Given the description of an element on the screen output the (x, y) to click on. 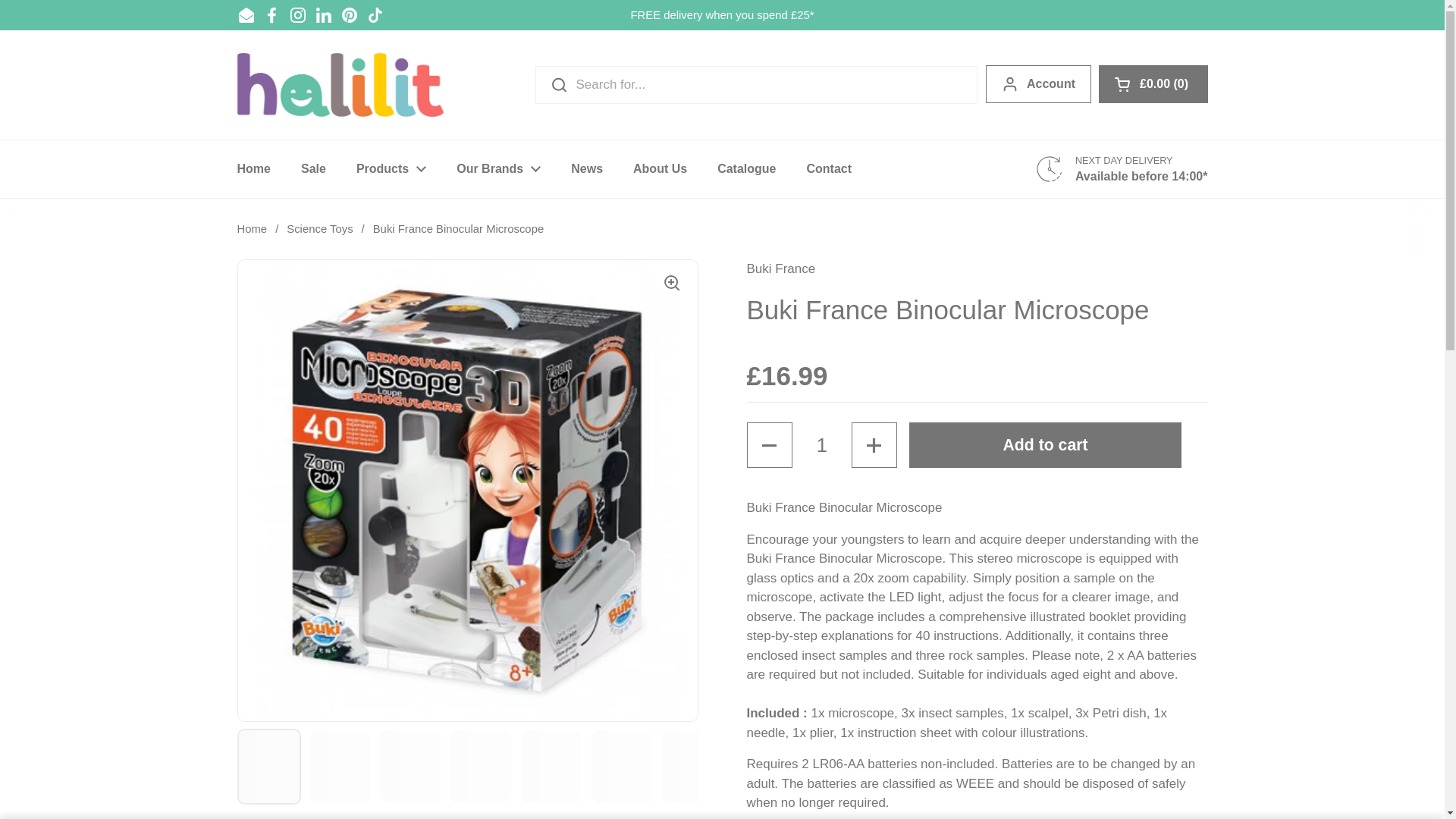
Products (390, 168)
LinkedIn (322, 14)
1 (821, 444)
Open cart (1153, 84)
Pinterest (348, 14)
Facebook (271, 14)
Email (244, 14)
Sale (312, 168)
Sale (312, 168)
Halilit (338, 85)
Home (253, 168)
Our Brands (498, 168)
Home (253, 168)
